Given the description of an element on the screen output the (x, y) to click on. 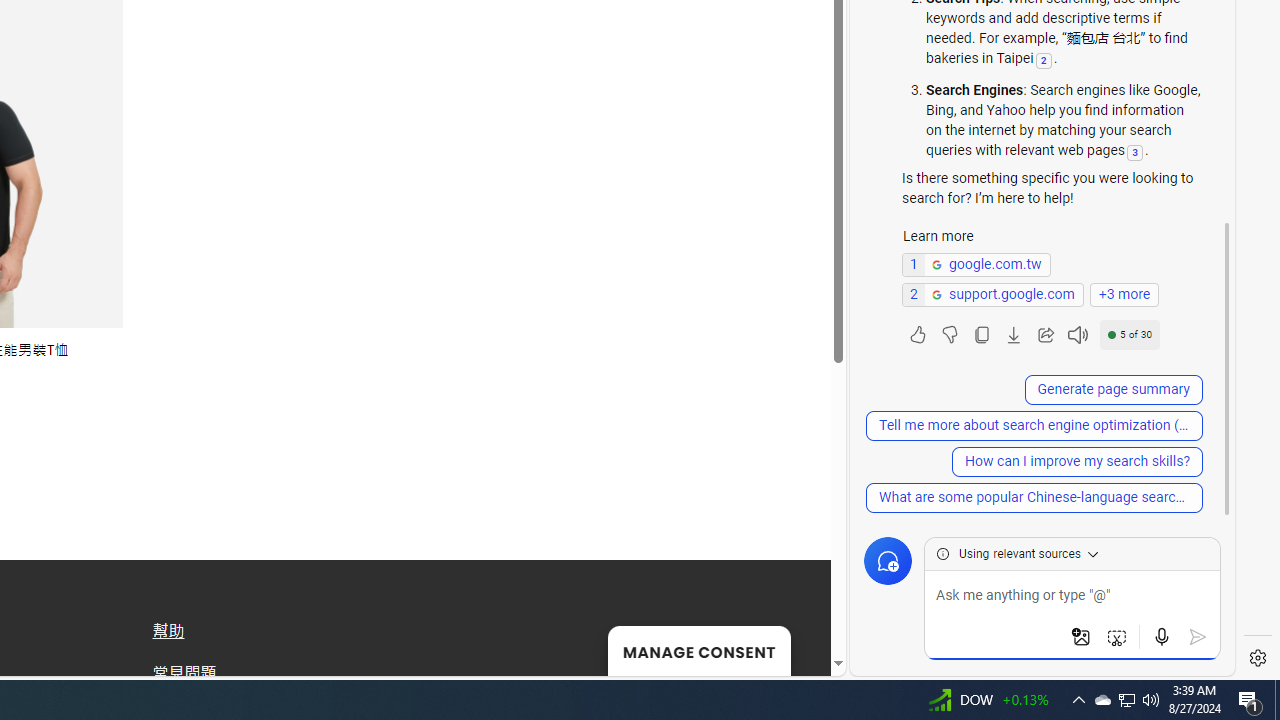
Go to top (790, 647)
MANAGE CONSENT (698, 650)
